Given the description of an element on the screen output the (x, y) to click on. 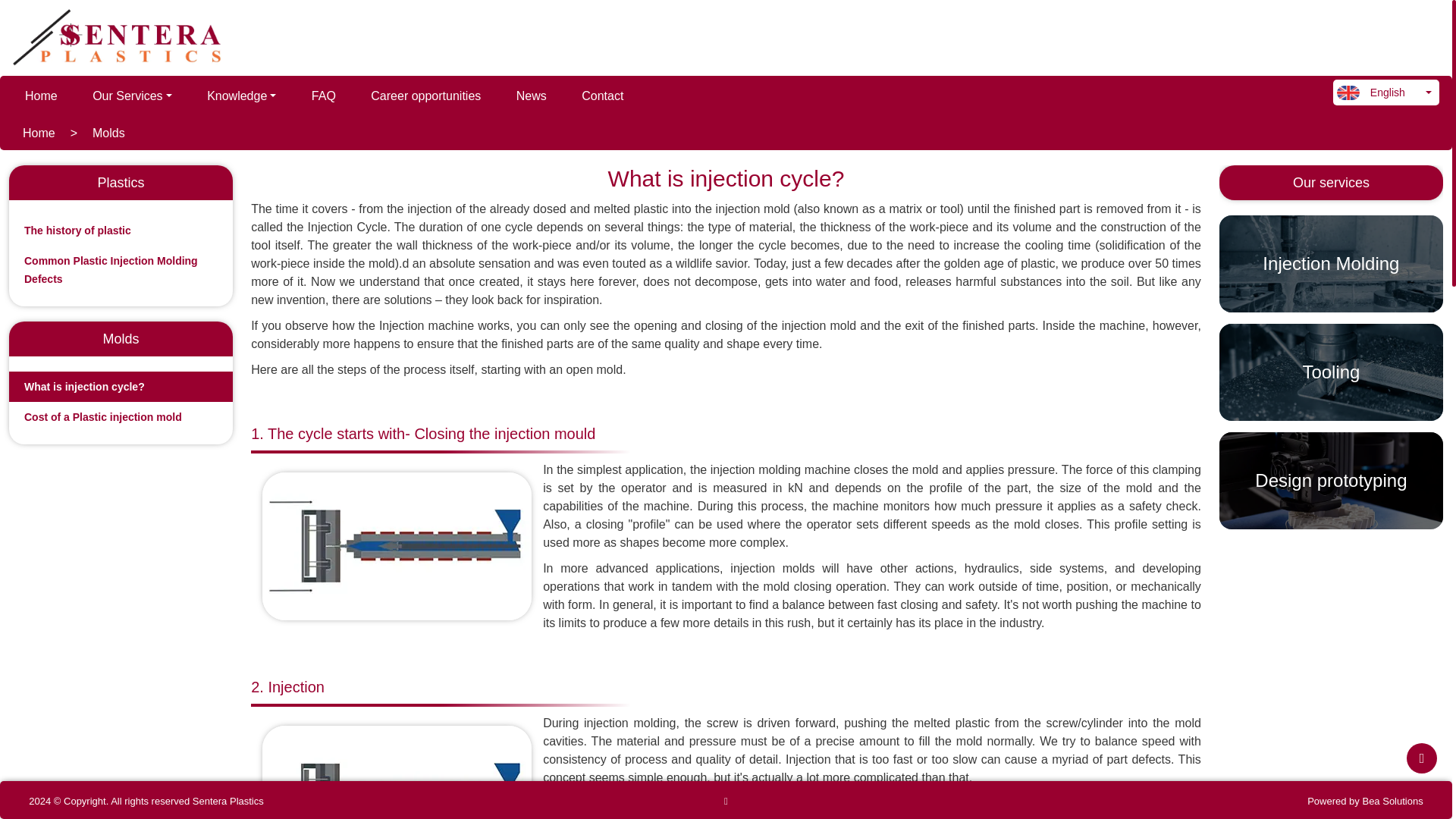
Sentera plastics (121, 38)
Contact (602, 95)
Injection Molding (1331, 263)
Home (39, 132)
The history of plastic (77, 230)
Career opportunities (425, 95)
Design prototyping (1331, 480)
Home (41, 95)
Career (425, 95)
Home page (41, 95)
